Given the description of an element on the screen output the (x, y) to click on. 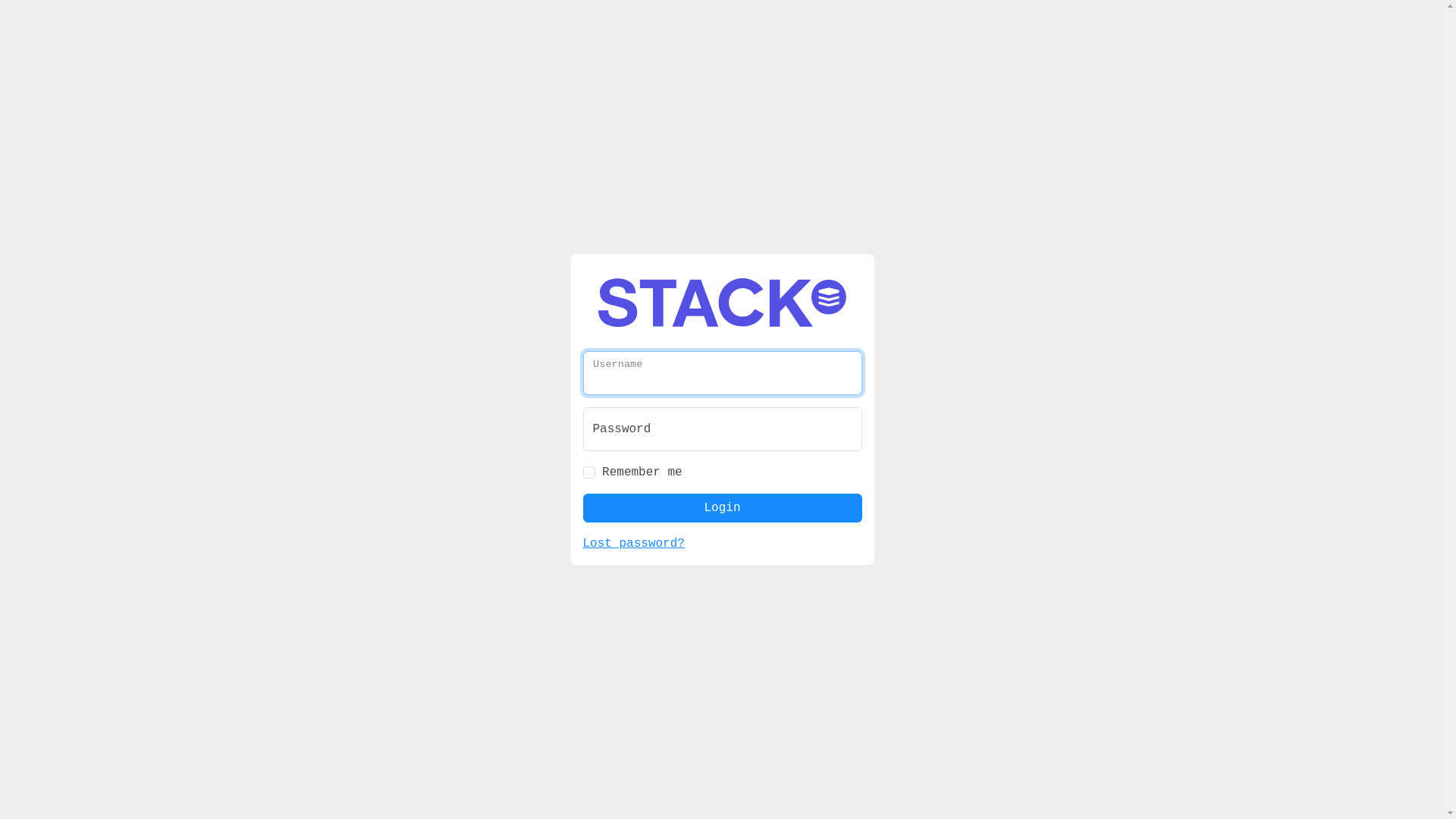
Login Element type: text (721, 507)
Lost password? Element type: text (633, 543)
